Given the description of an element on the screen output the (x, y) to click on. 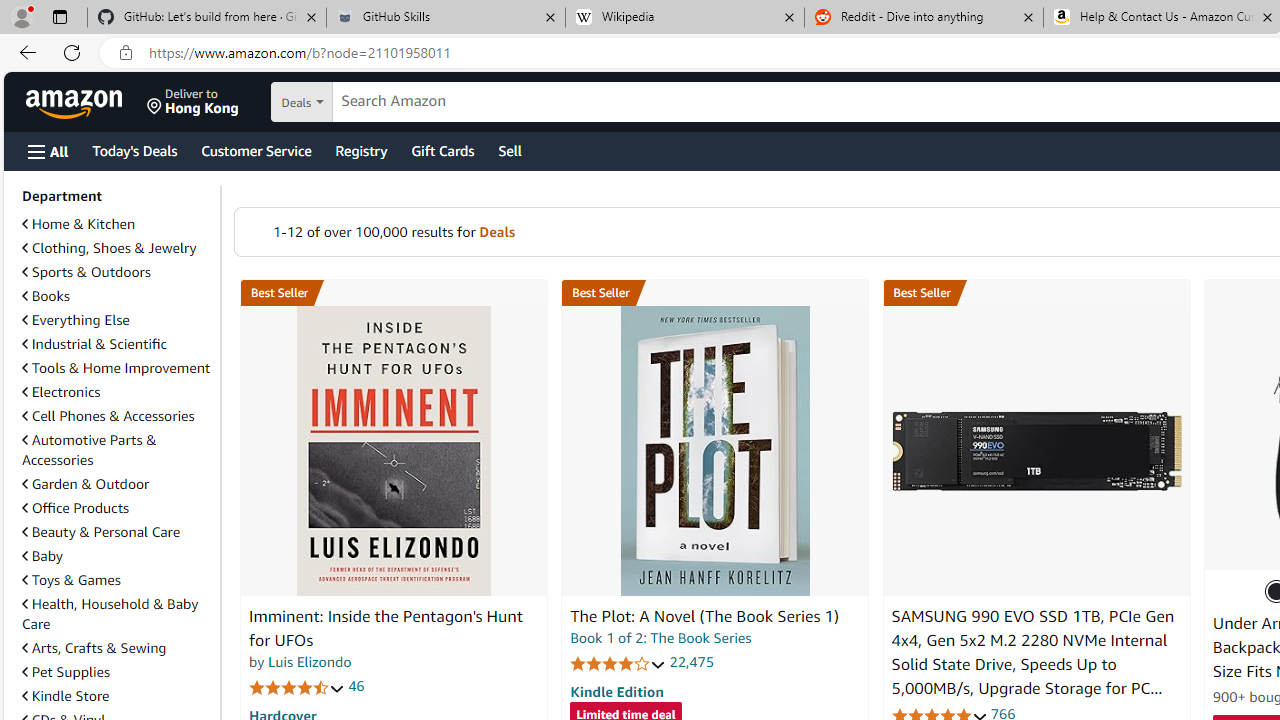
4.2 out of 5 stars (617, 663)
Open Menu (48, 151)
Kindle Store (65, 695)
Beauty & Personal Care (100, 531)
Health, Household & Baby Care (117, 614)
Book 1 of 2: The Book Series (660, 638)
46 (356, 686)
Sports & Outdoors (117, 272)
Skip to main content (86, 100)
Customer Service (256, 150)
Automotive Parts & Accessories (89, 449)
Imminent: Inside the Pentagon's Hunt for UFOs (386, 628)
Reddit - Dive into anything (924, 17)
Tools & Home Improvement (116, 368)
